Given the description of an element on the screen output the (x, y) to click on. 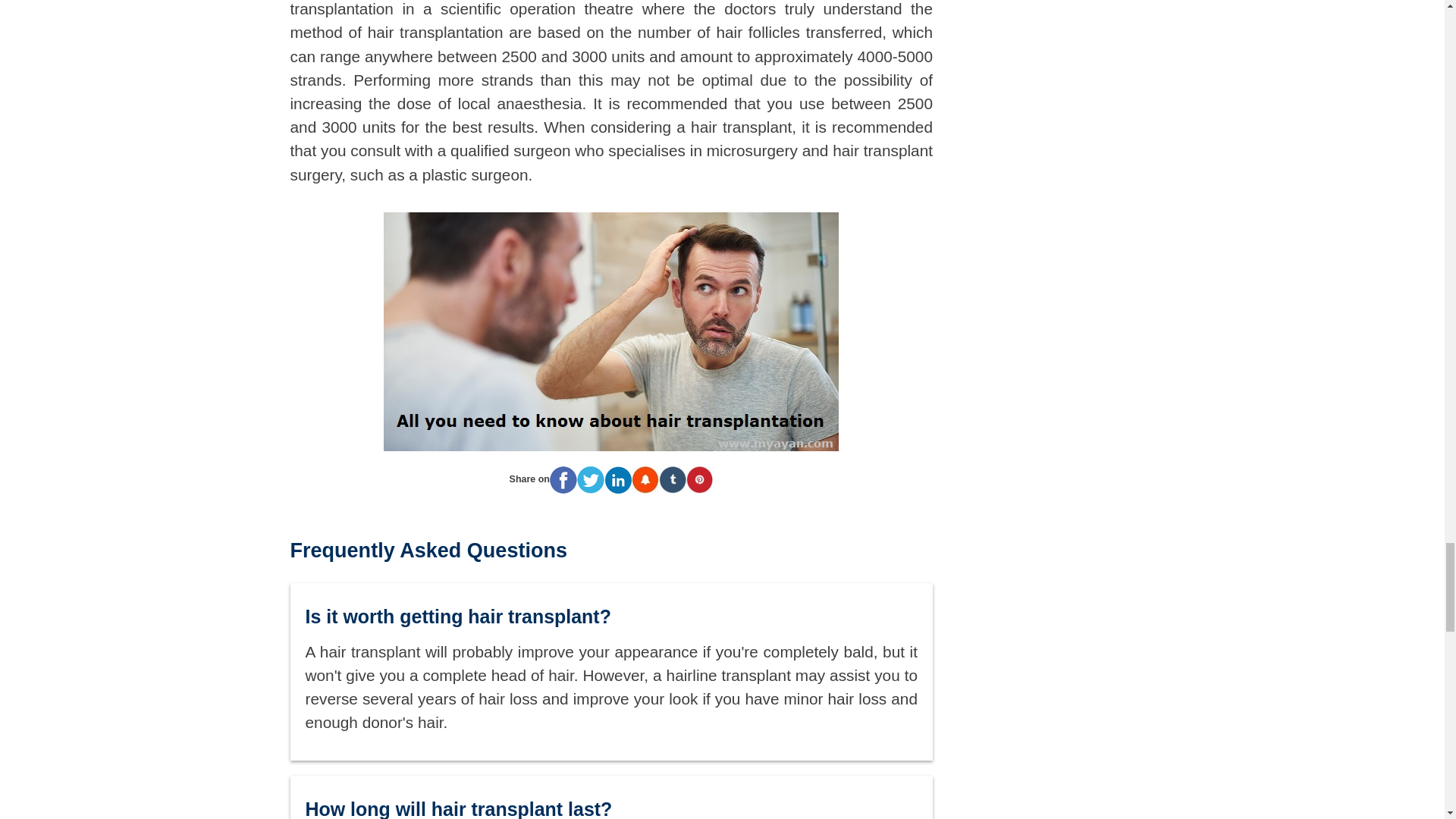
linkedin (617, 480)
What's your reaction? (611, 733)
reddit (645, 479)
reddit (645, 480)
All You Need to Know about Hair Transplantation (611, 331)
pinterest (699, 480)
twitter (590, 480)
linkedin (617, 479)
tumblr (672, 480)
twitter (590, 479)
